Given the description of an element on the screen output the (x, y) to click on. 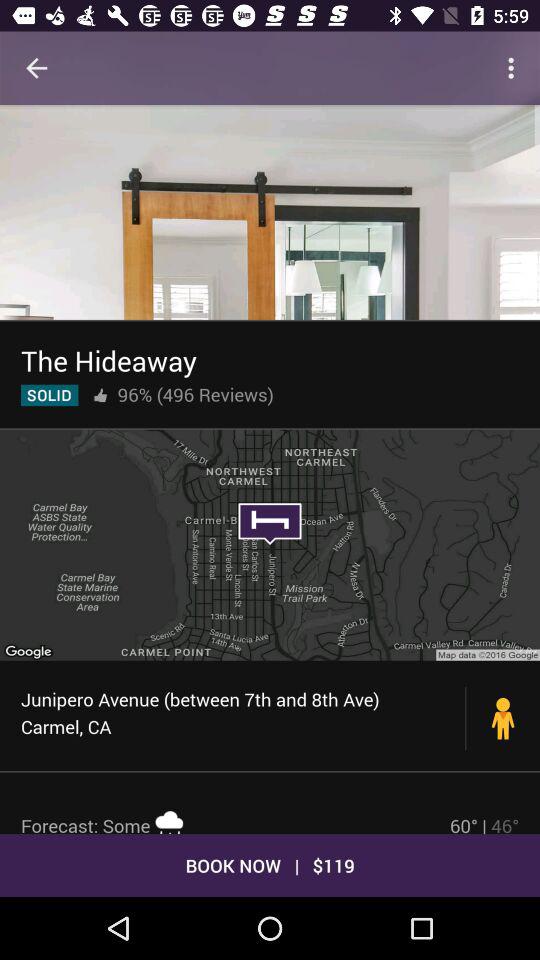
select junipero avenue between icon (243, 712)
